Given the description of an element on the screen output the (x, y) to click on. 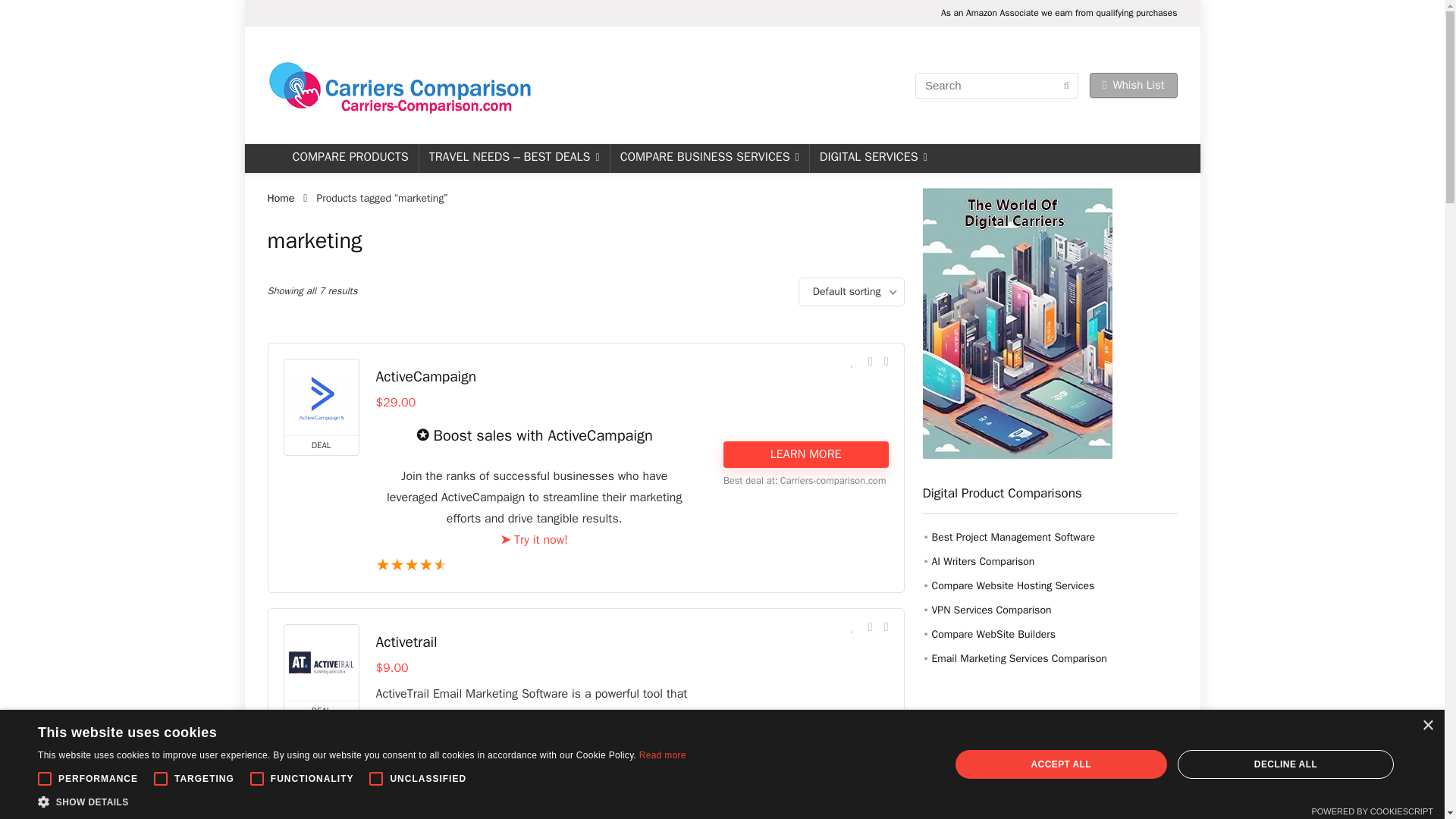
Whish List (1133, 84)
Rated 9.6 out of 10 (534, 565)
LEARN MORE (805, 454)
Home (280, 197)
COMPARE BUSINESS SERVICES (709, 158)
Activetrail (406, 642)
DIGITAL SERVICES (873, 158)
Consent Management Platform (1371, 810)
ActiveCampaign (426, 376)
COMPARE PRODUCTS (349, 158)
